Given the description of an element on the screen output the (x, y) to click on. 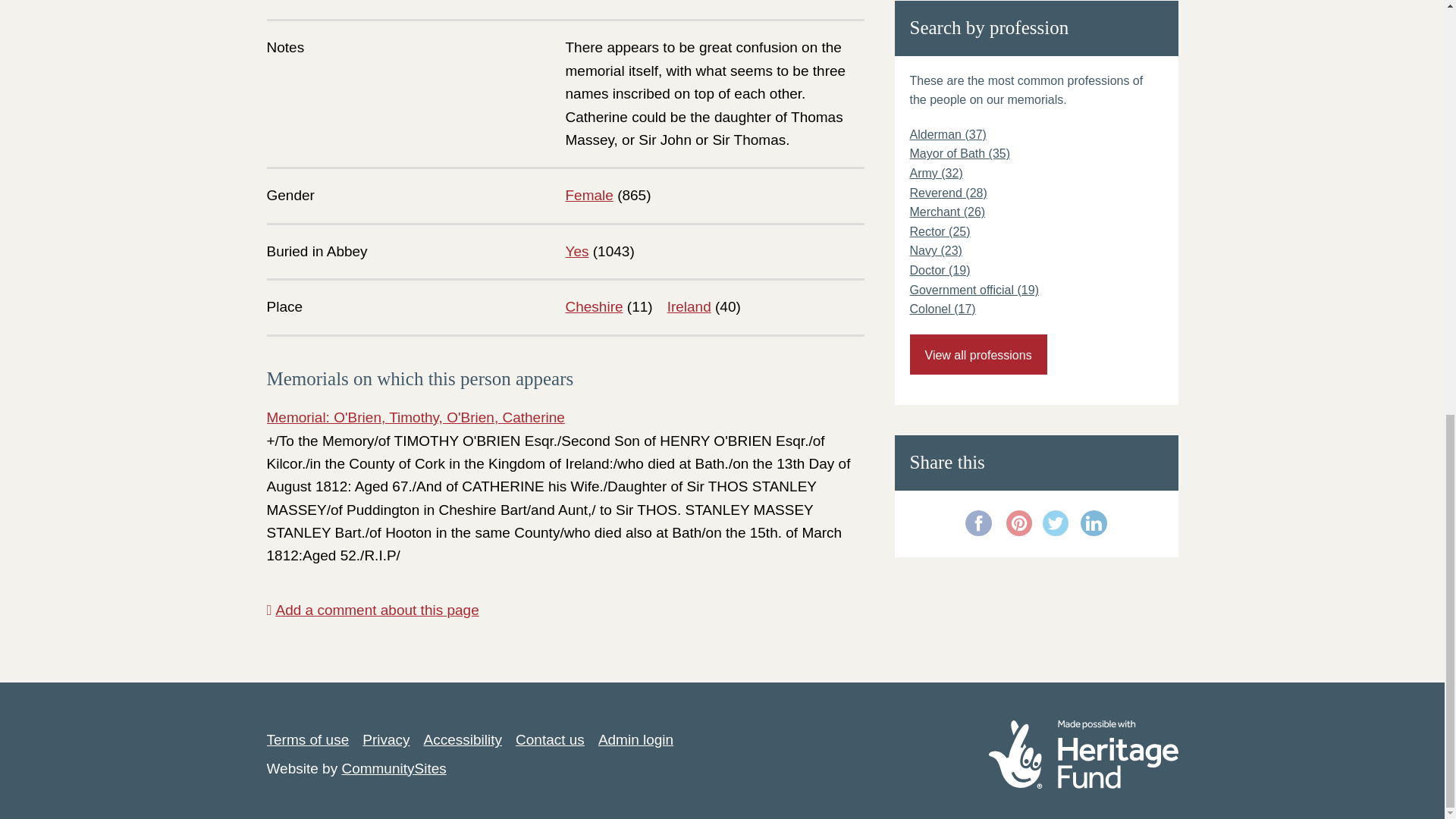
37 topics (948, 133)
Female (589, 195)
17 topics (942, 308)
Ireland (688, 306)
35 topics (960, 153)
25 topics (940, 231)
23 topics (936, 250)
Cheshire (594, 306)
32 topics (936, 173)
19 topics (974, 289)
Memorial: O'Brien, Timothy, O'Brien, Catherine (415, 417)
28 topics (948, 192)
Add a comment about this page (372, 609)
19 topics (940, 269)
26 topics (947, 211)
